Given the description of an element on the screen output the (x, y) to click on. 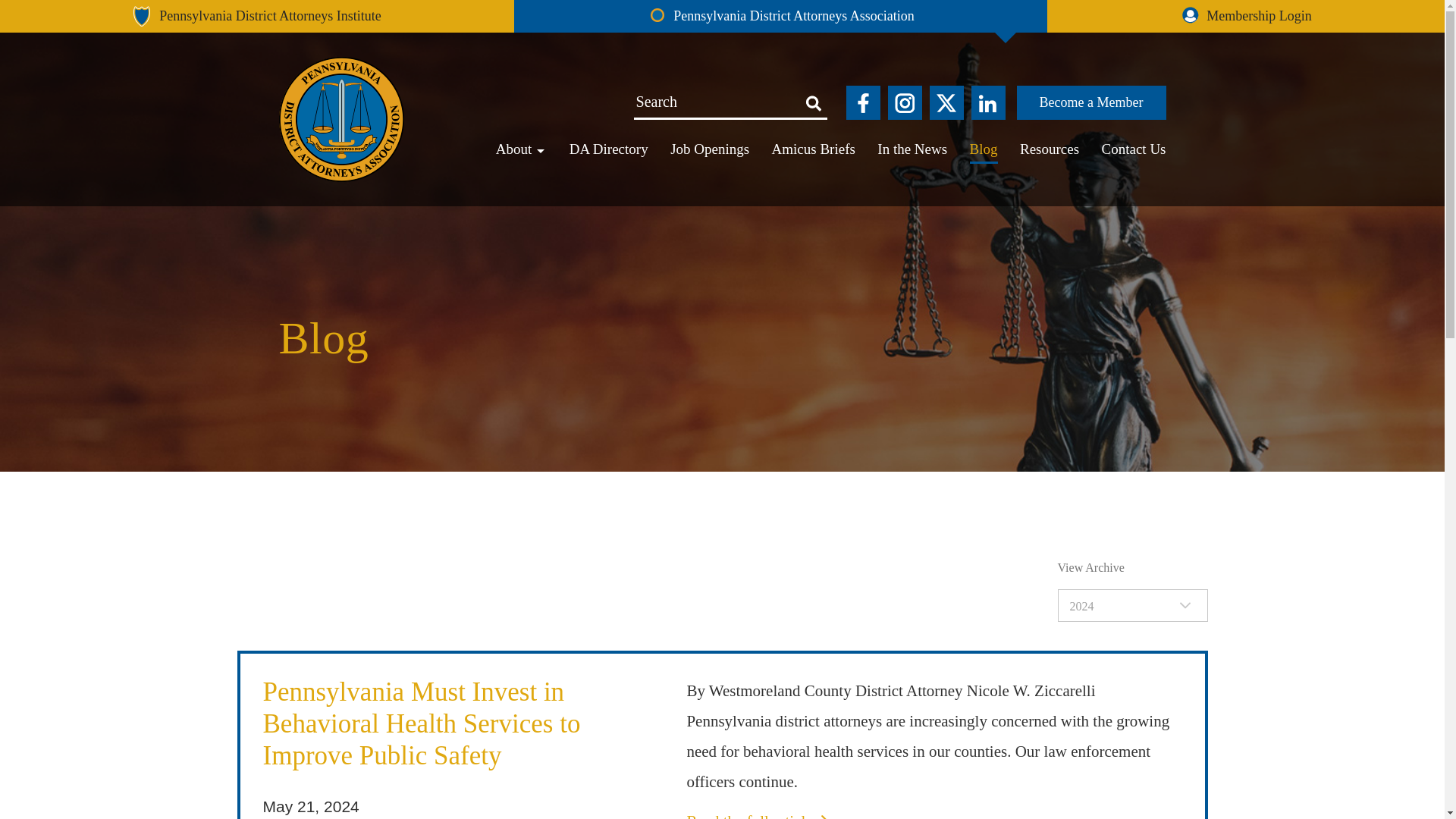
Pennsylvania District Attorneys Association (779, 16)
DA Directory (608, 149)
About (521, 149)
Become a Member (1091, 102)
Resources (1049, 149)
Read the full article (758, 815)
Facebook (862, 102)
Twitter (946, 102)
Contact Us (1134, 149)
